Given the description of an element on the screen output the (x, y) to click on. 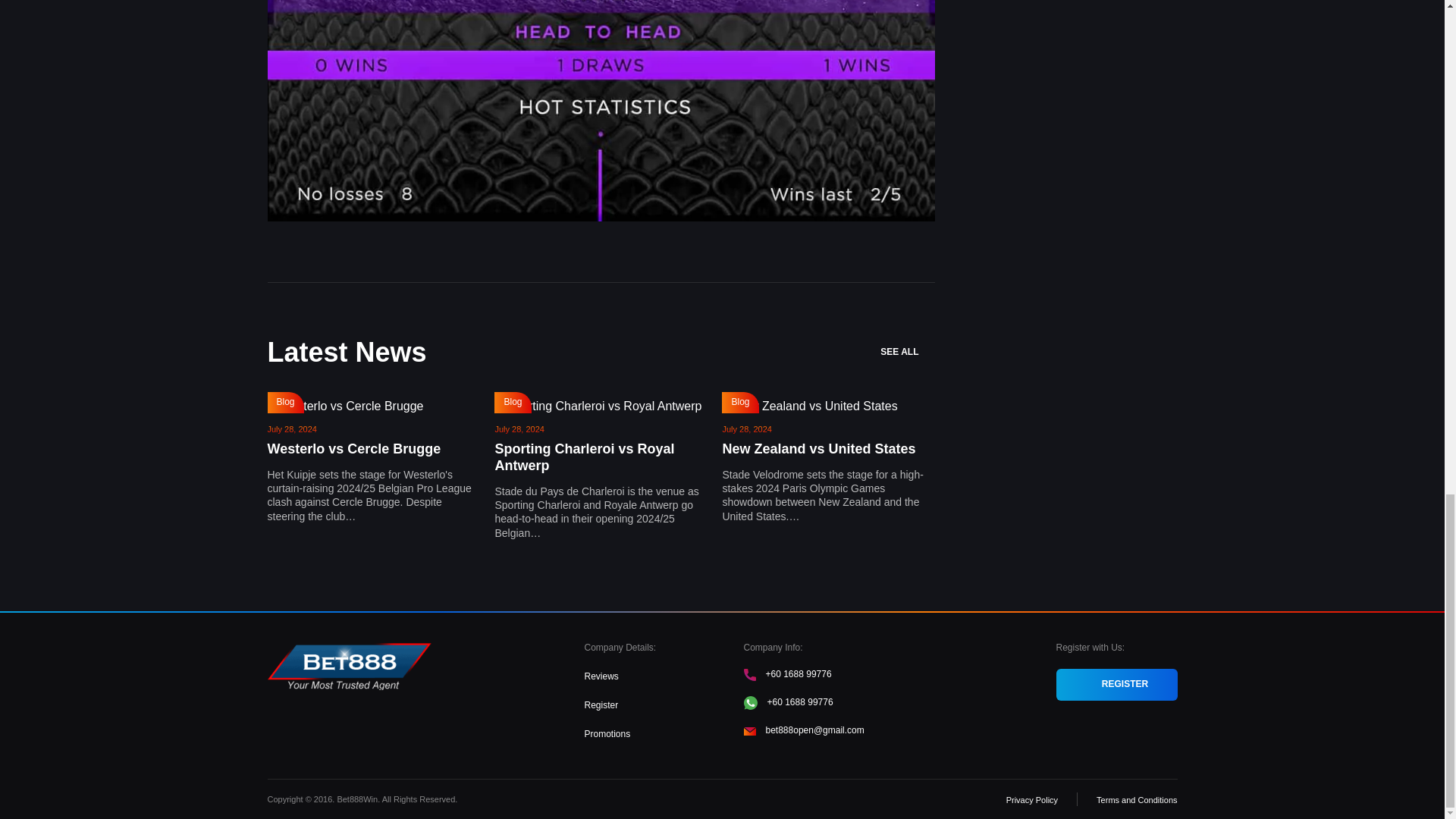
Sporting Charleroi vs Royal Antwerp (584, 457)
Terms and Conditions (1136, 799)
New Zealand vs United States (818, 448)
Promotions (606, 733)
Westerlo vs Cercle Brugge (353, 448)
REGISTER (1115, 685)
Register (600, 705)
SEE ALL (907, 352)
Privacy Policy (1032, 799)
Reviews (600, 675)
